Given the description of an element on the screen output the (x, y) to click on. 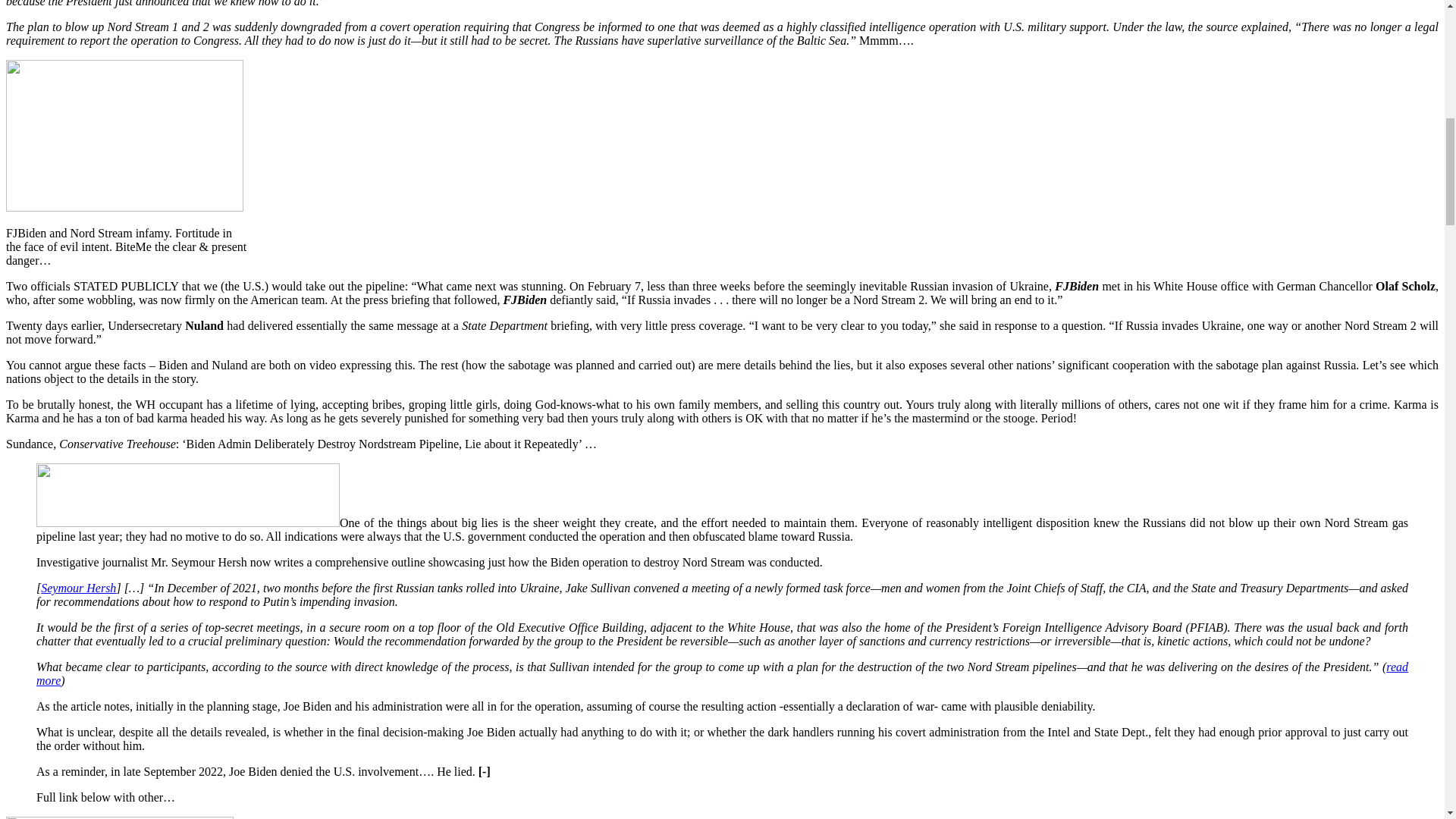
Seymour Hersh (78, 587)
read more (721, 673)
